Given the description of an element on the screen output the (x, y) to click on. 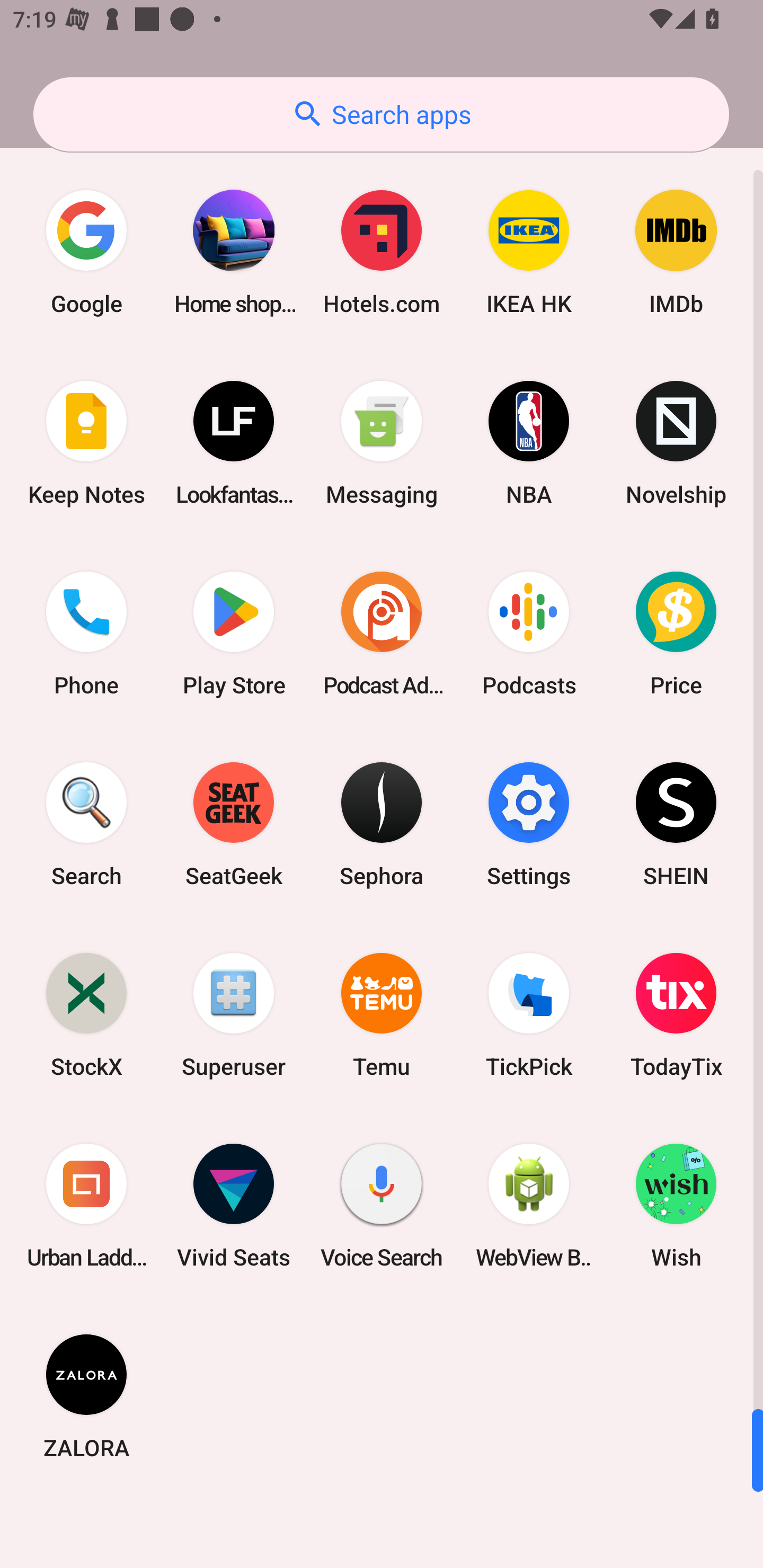
  Search apps (381, 114)
Google (86, 252)
Home shopping (233, 252)
Hotels.com (381, 252)
IKEA HK (528, 252)
IMDb (676, 252)
Keep Notes (86, 442)
Lookfantastic (233, 442)
Messaging (381, 442)
NBA (528, 442)
Novelship (676, 442)
Phone (86, 633)
Play Store (233, 633)
Podcast Addict (381, 633)
Podcasts (528, 633)
Price (676, 633)
Search (86, 823)
SeatGeek (233, 823)
Sephora (381, 823)
Settings (528, 823)
SHEIN (676, 823)
StockX (86, 1014)
Superuser (233, 1014)
Temu (381, 1014)
TickPick (528, 1014)
TodayTix (676, 1014)
Urban Ladder (86, 1205)
Vivid Seats (233, 1205)
Voice Search (381, 1205)
WebView Browser Tester (528, 1205)
Wish (676, 1205)
ZALORA (86, 1396)
